Given the description of an element on the screen output the (x, y) to click on. 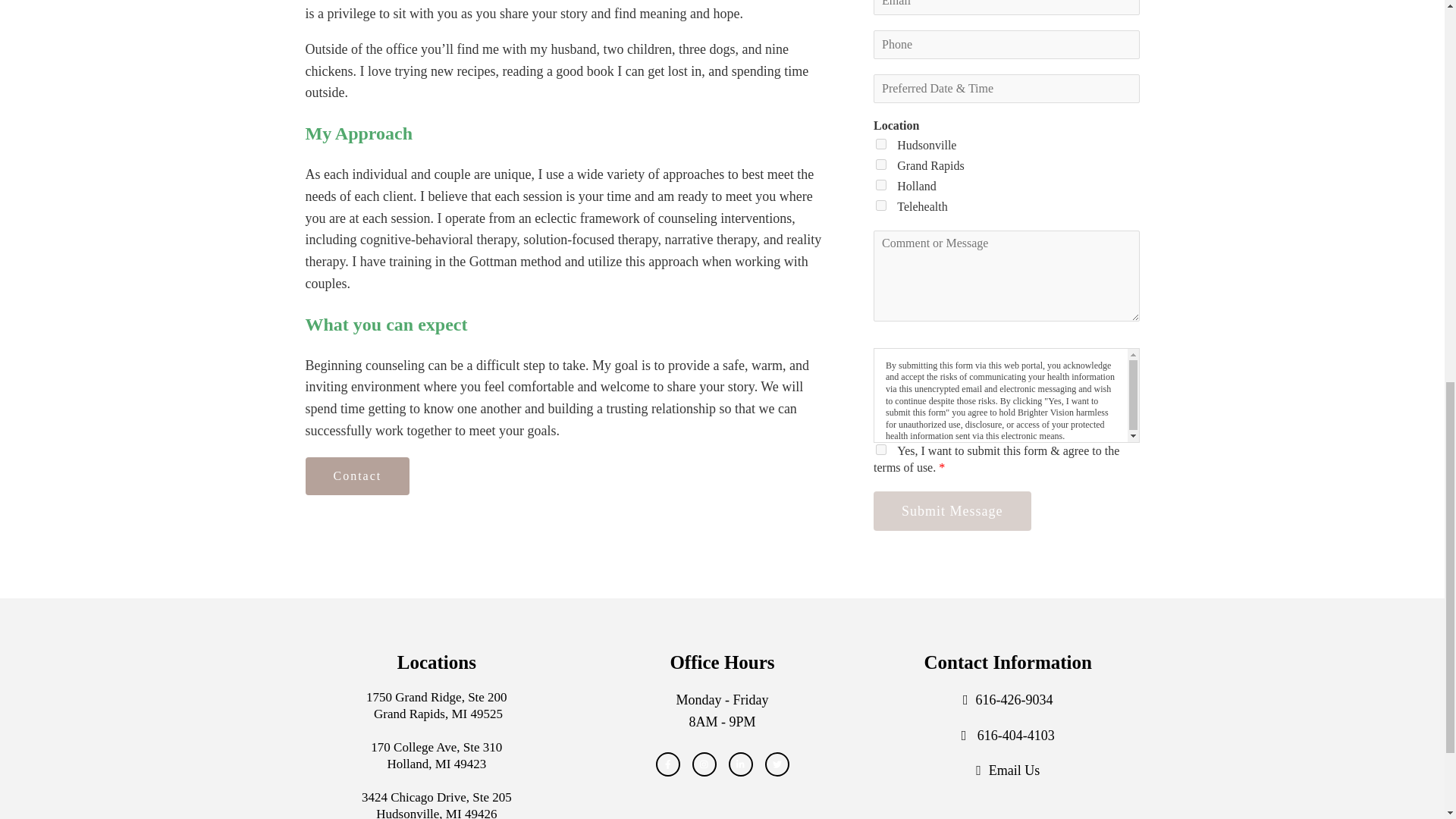
Telehealth (881, 204)
Hudsonville (881, 143)
Holland (881, 184)
Grand Rapids (881, 163)
